Given the description of an element on the screen output the (x, y) to click on. 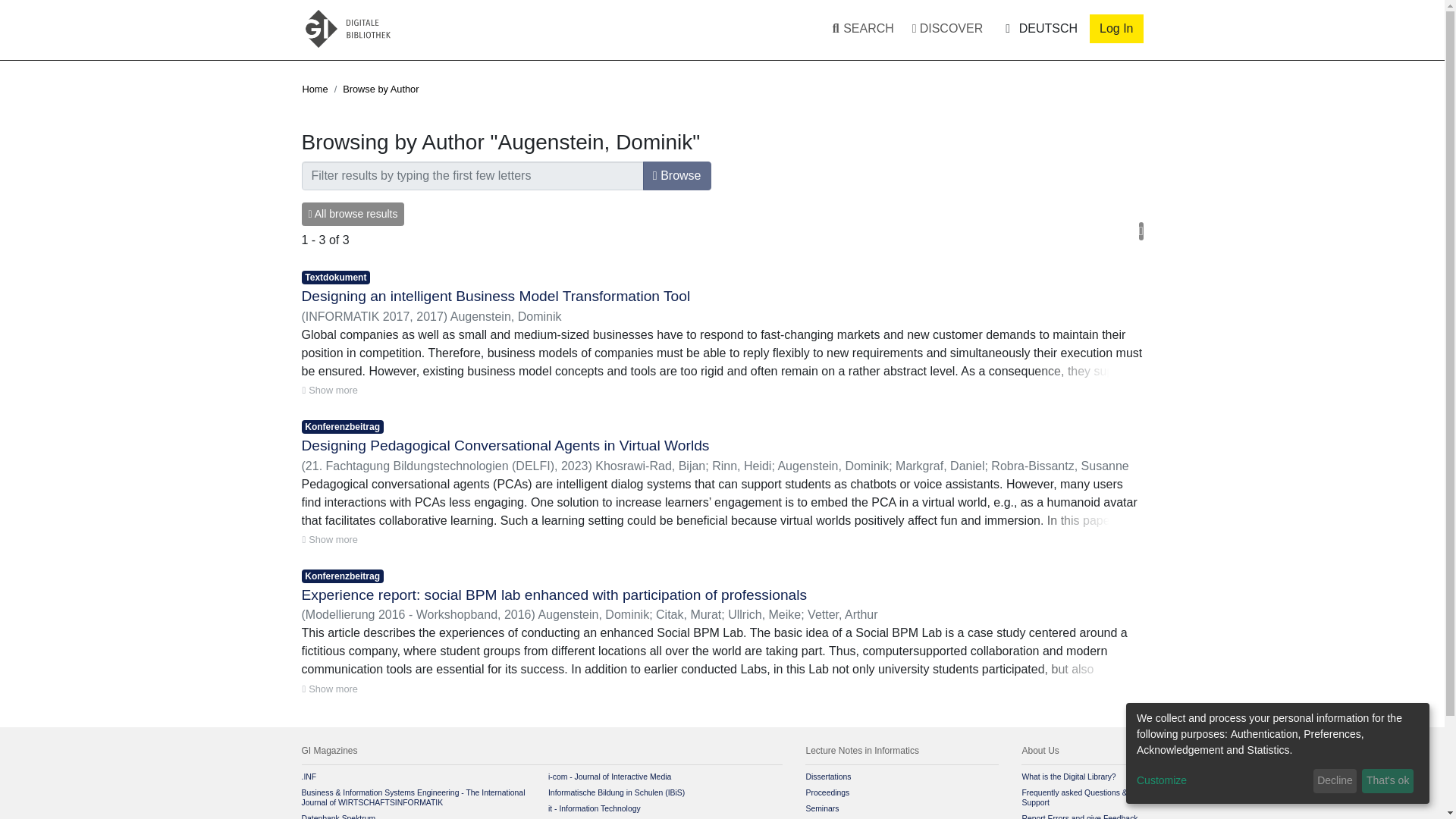
Show more (329, 688)
DISCOVER (946, 28)
Home (314, 89)
.INF (309, 777)
i-com - Journal of Interactive Media (609, 777)
Search (849, 28)
Show more (329, 539)
it - Information Technology (594, 808)
SEARCH (859, 28)
Language (1038, 28)
All browse results (352, 214)
Designing an intelligent Business Model Transformation Tool (495, 295)
Datenbank Spektrum (338, 816)
